Given the description of an element on the screen output the (x, y) to click on. 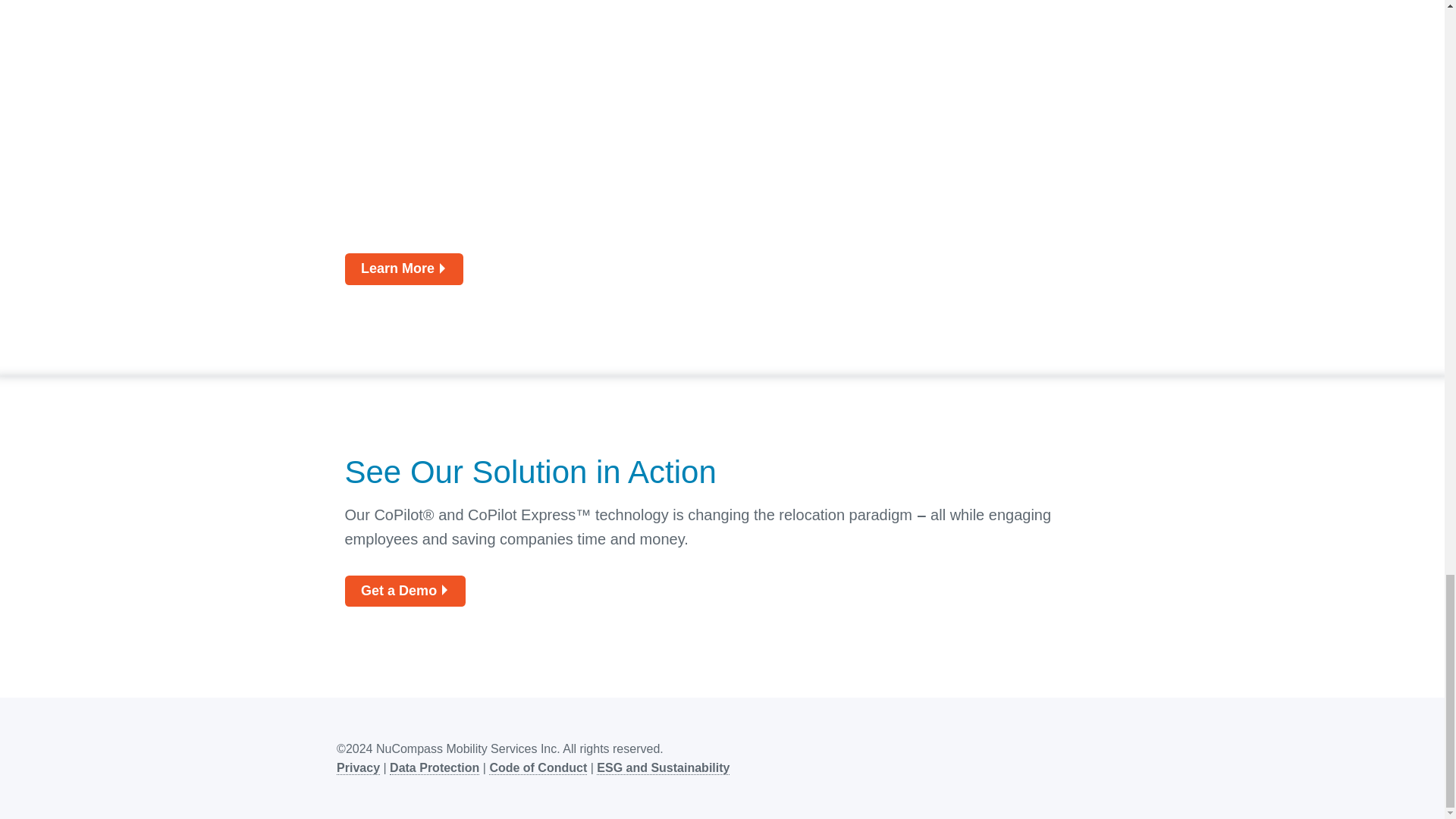
Code of Conduct (537, 767)
Privacy (358, 767)
Data Protection (434, 767)
ESG and Sustainability (662, 767)
Learn More (403, 268)
Get a Demo (403, 590)
